Given the description of an element on the screen output the (x, y) to click on. 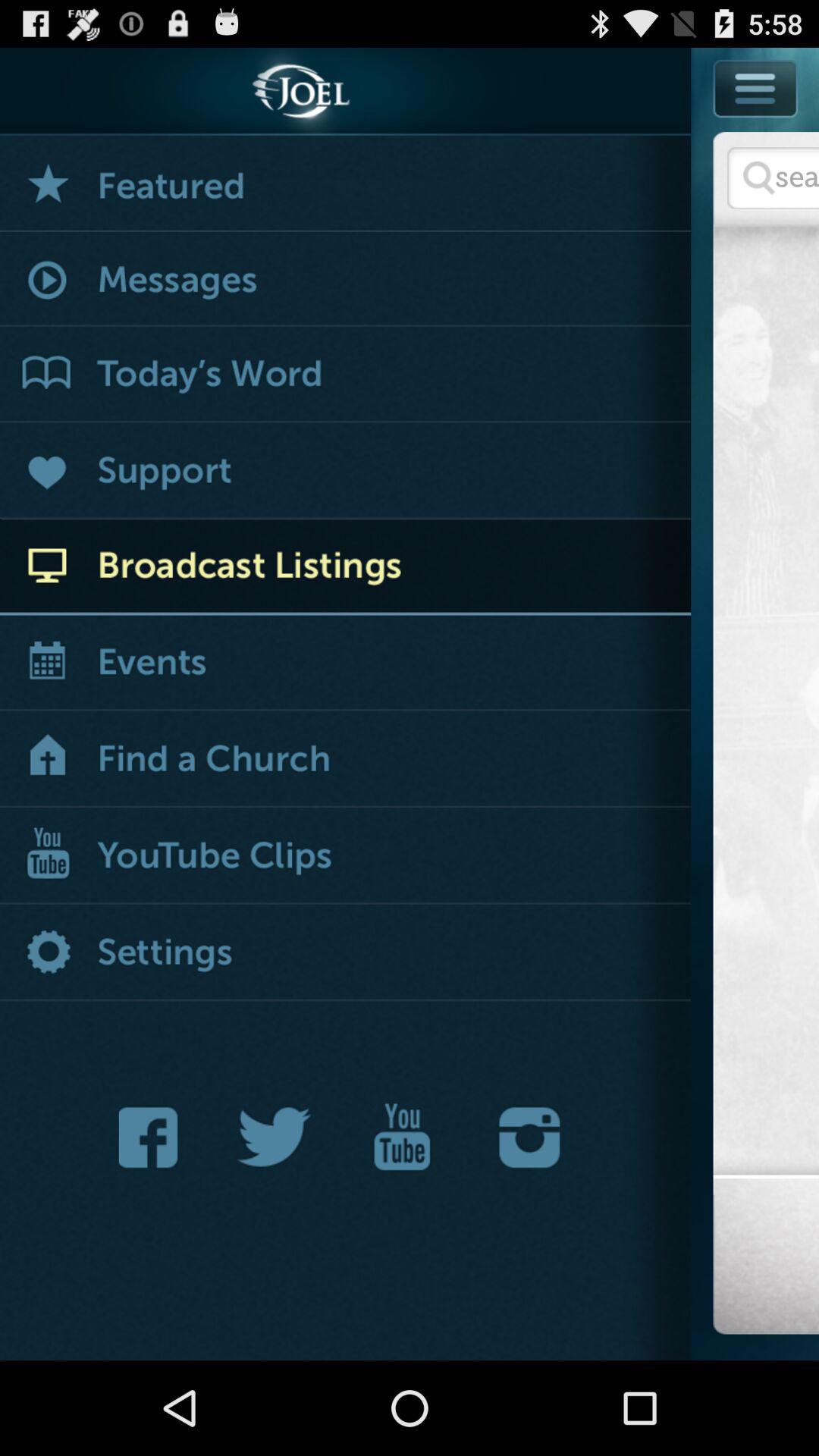
show or hide application options (755, 88)
